Given the description of an element on the screen output the (x, y) to click on. 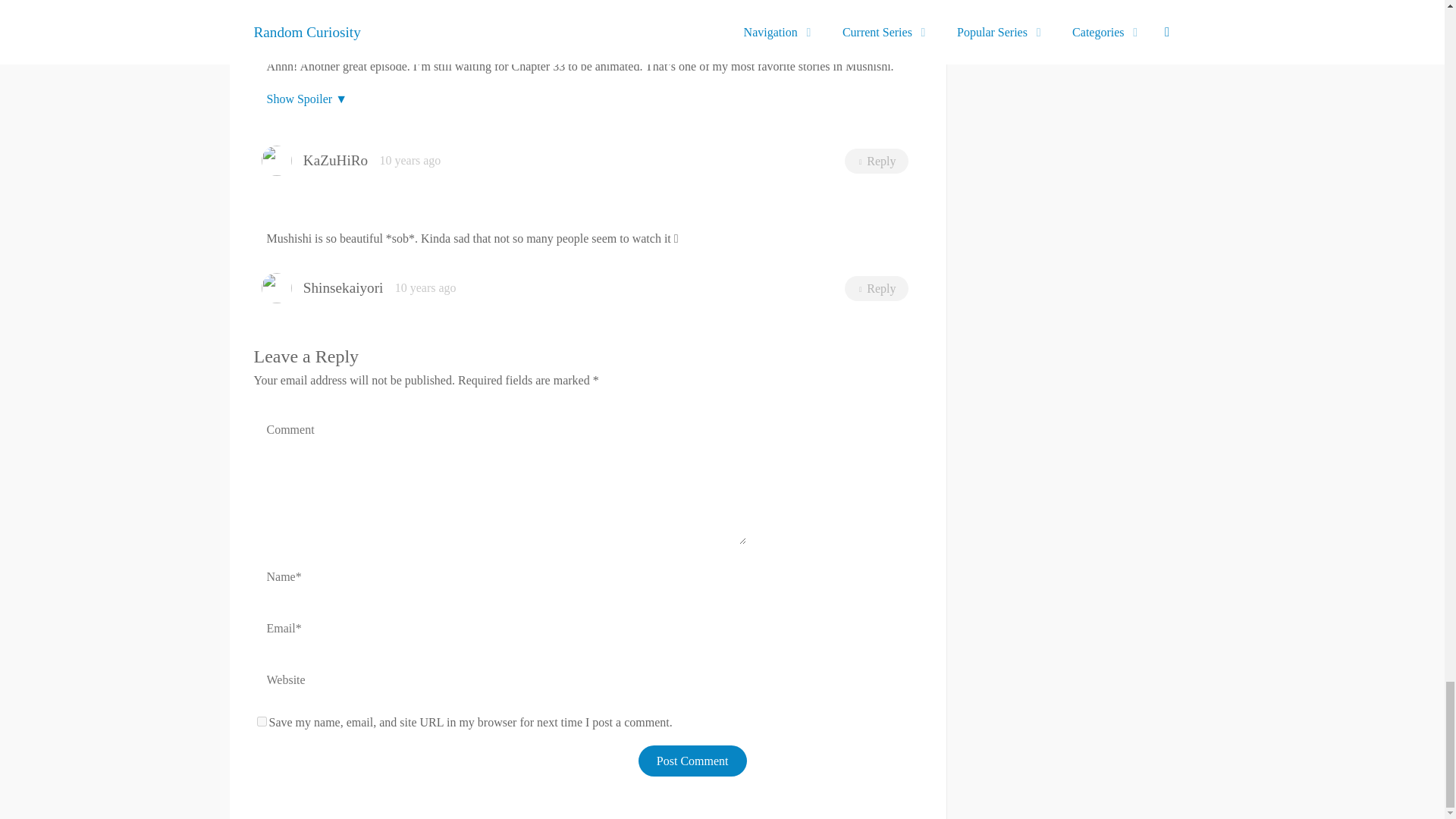
yes (261, 721)
Post Comment (692, 760)
